Given the description of an element on the screen output the (x, y) to click on. 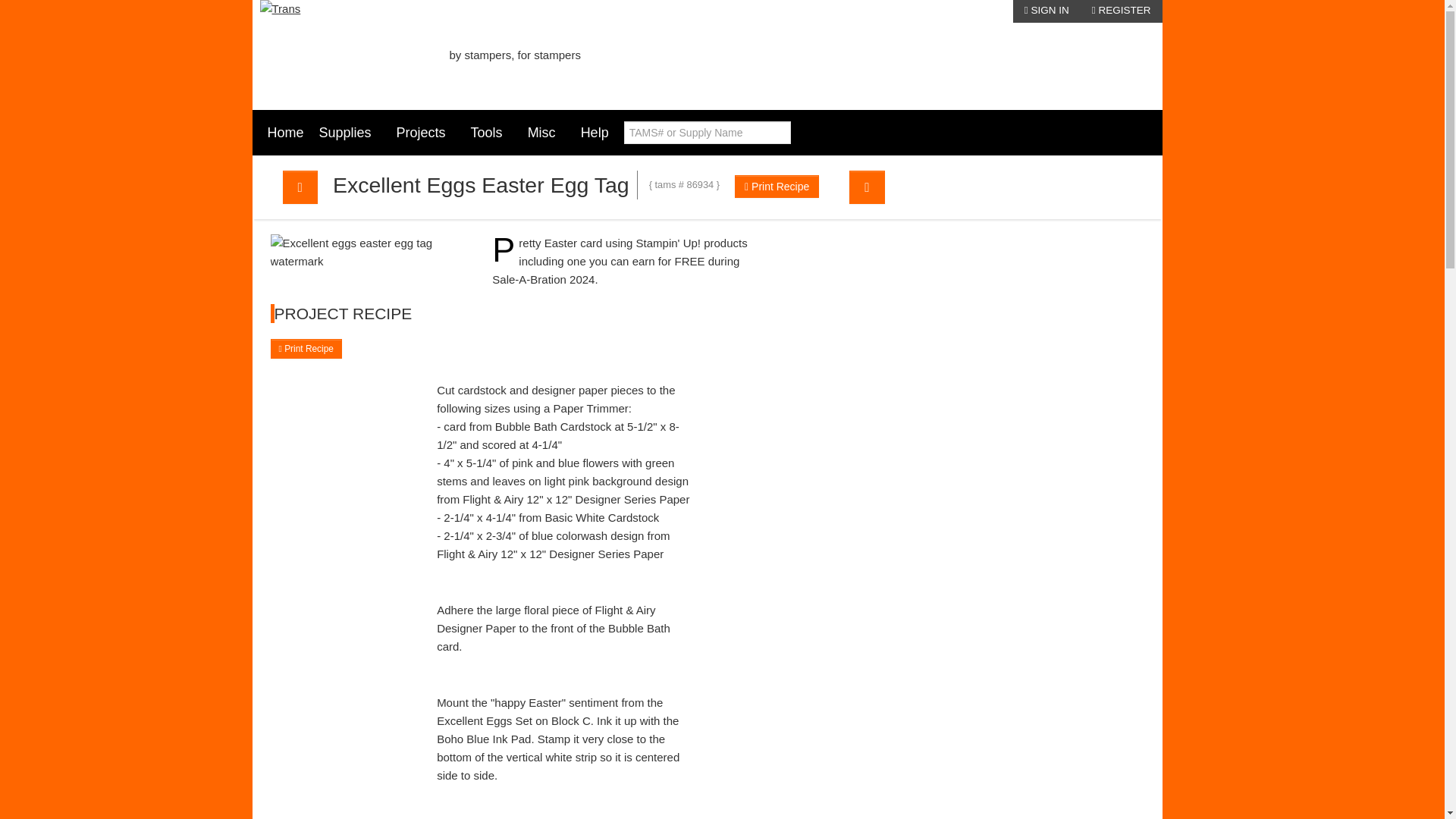
Supplies (349, 132)
Projects (425, 132)
view larger image (460, 249)
SIGN IN (1046, 11)
REGISTER (1120, 11)
Print Recipe (776, 186)
Tools (491, 132)
